Given the description of an element on the screen output the (x, y) to click on. 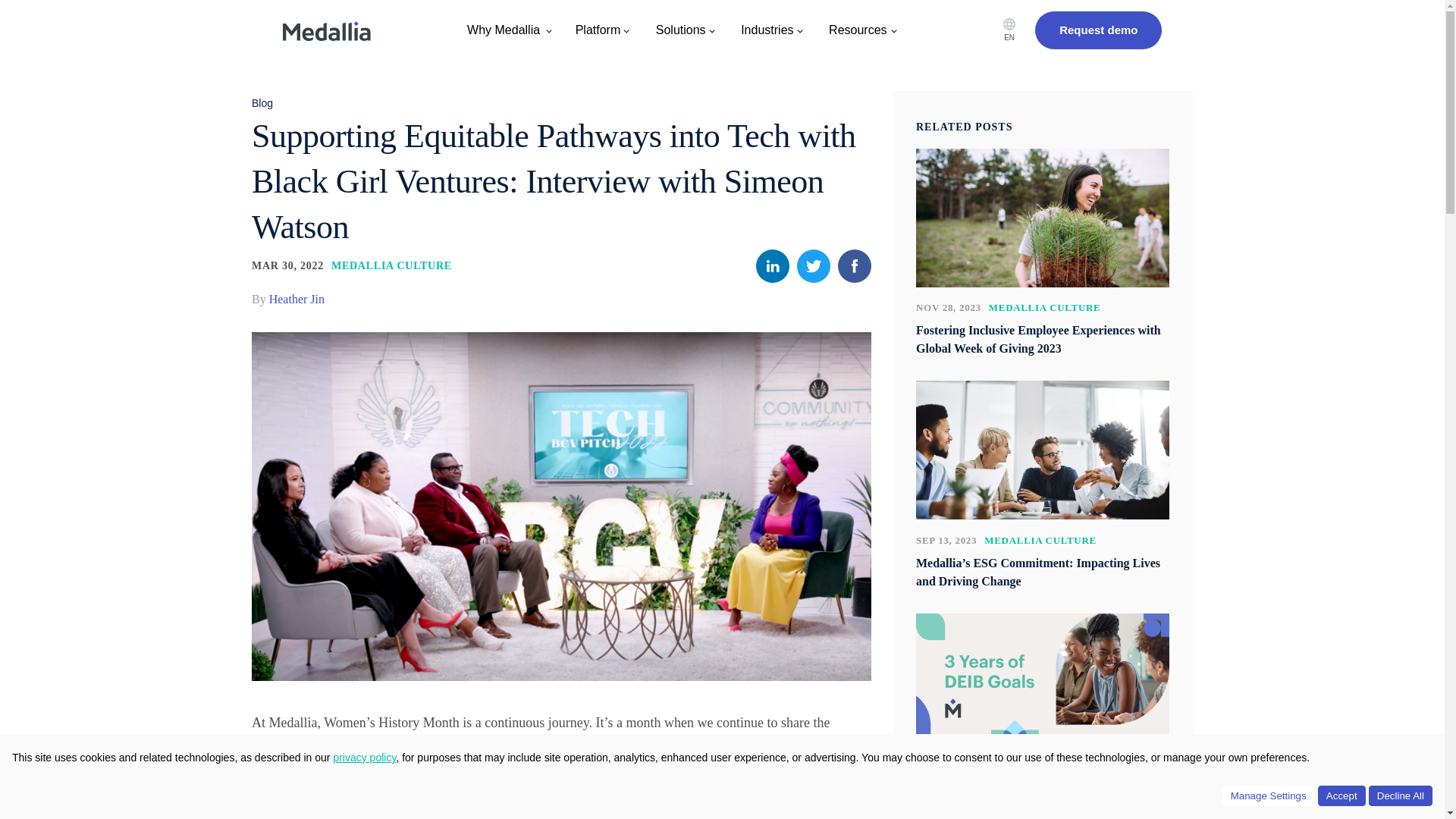
Posts by Heather Jin (296, 298)
